Given the description of an element on the screen output the (x, y) to click on. 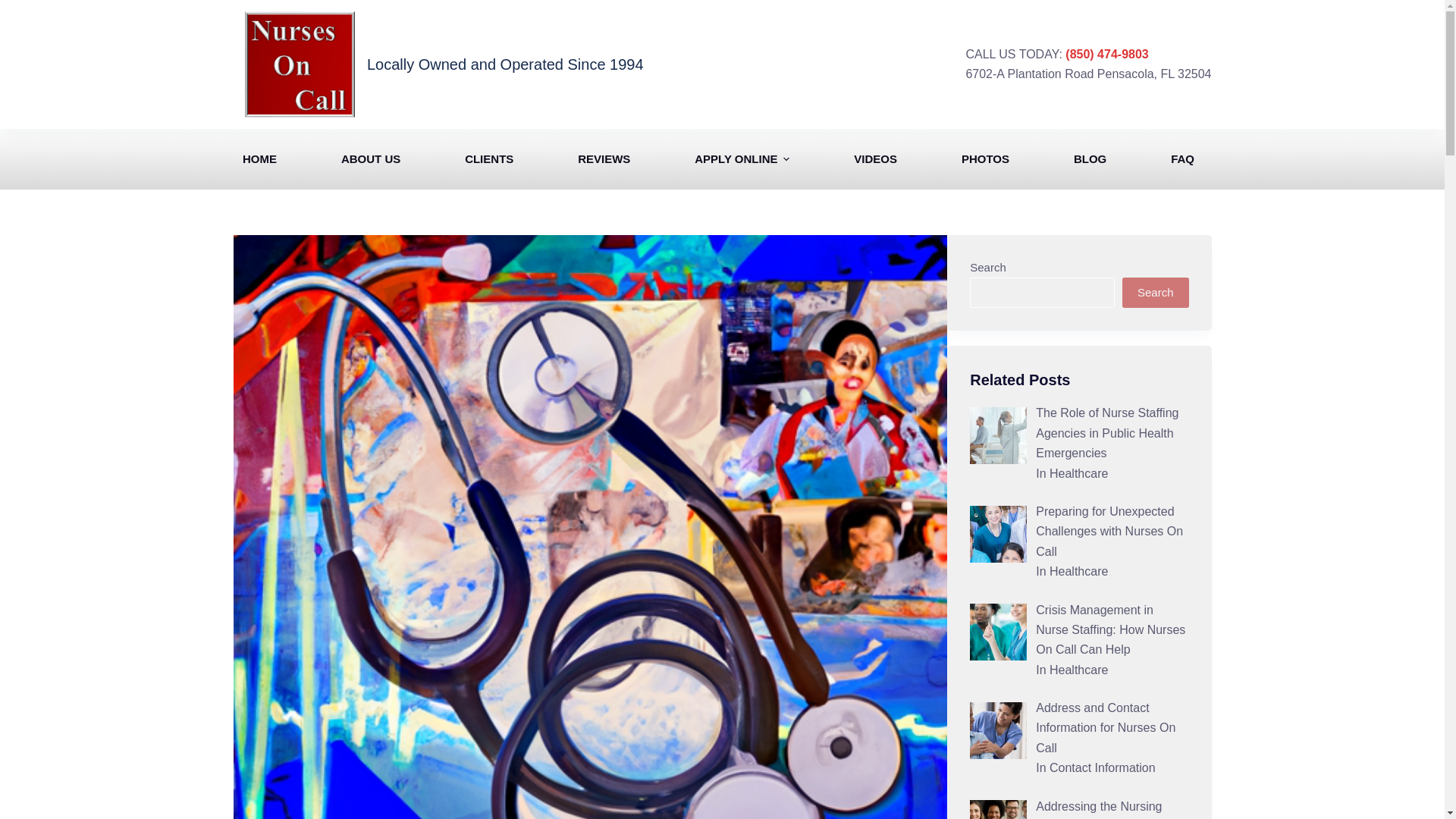
REVIEWS (604, 158)
ABOUT US (370, 158)
VIDEOS (875, 158)
PHOTOS (984, 158)
APPLY ONLINE (742, 158)
Skip to content (15, 7)
CLIENTS (488, 158)
